Given the description of an element on the screen output the (x, y) to click on. 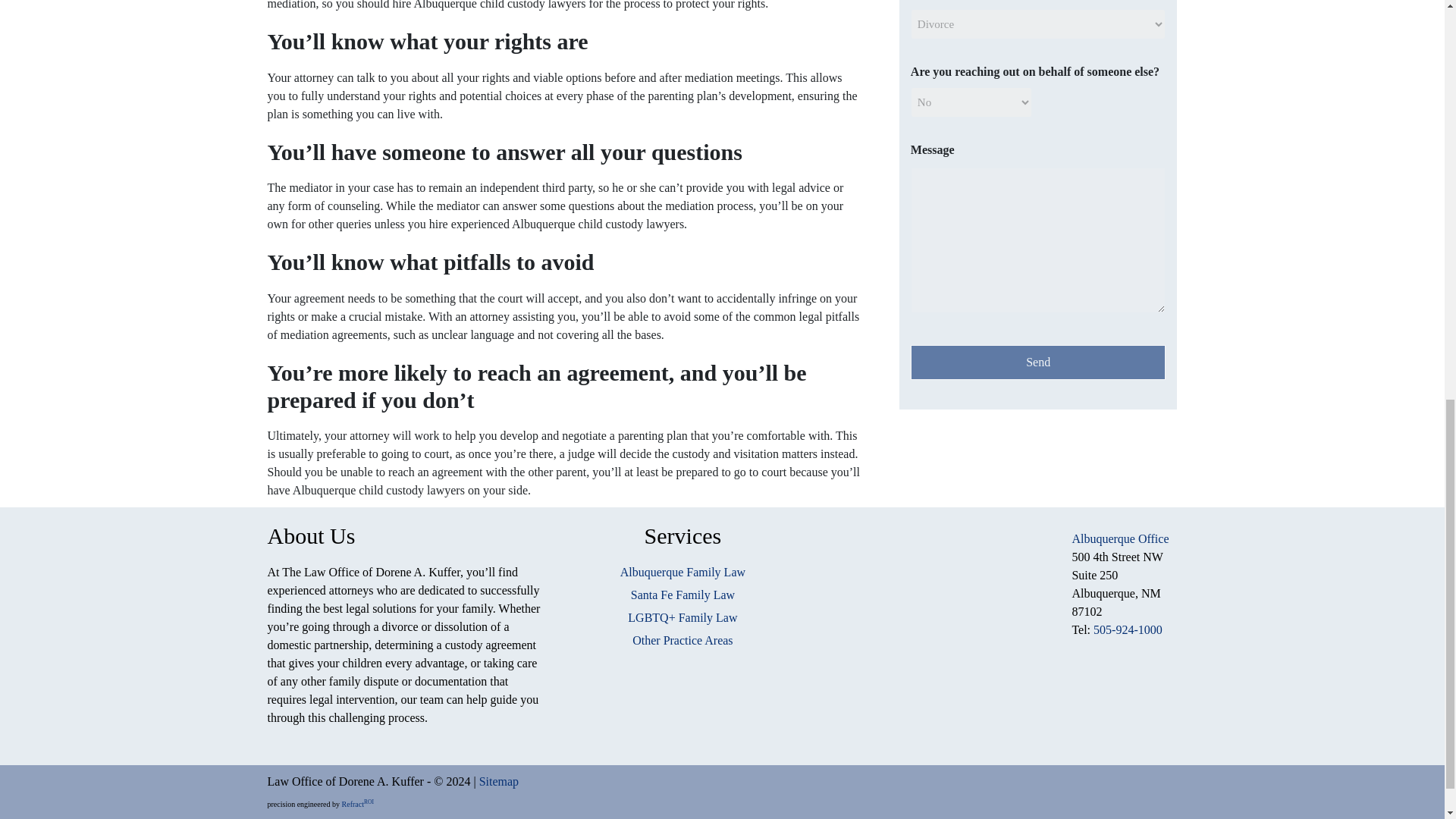
Send (1038, 362)
sitemap (498, 780)
Map (935, 624)
